Given the description of an element on the screen output the (x, y) to click on. 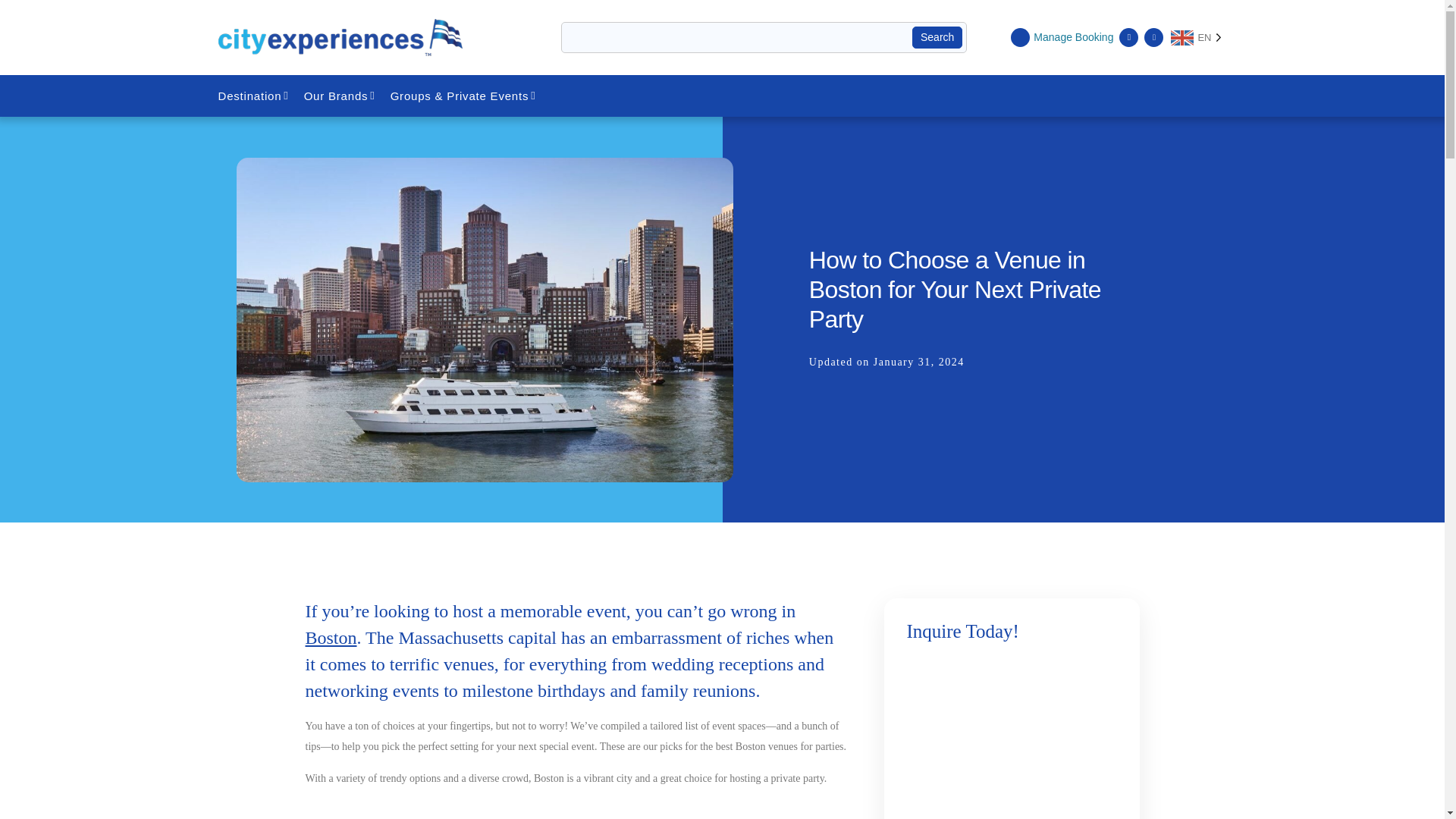
Search (937, 37)
Destination (255, 95)
Manage Booking (1061, 36)
